Given the description of an element on the screen output the (x, y) to click on. 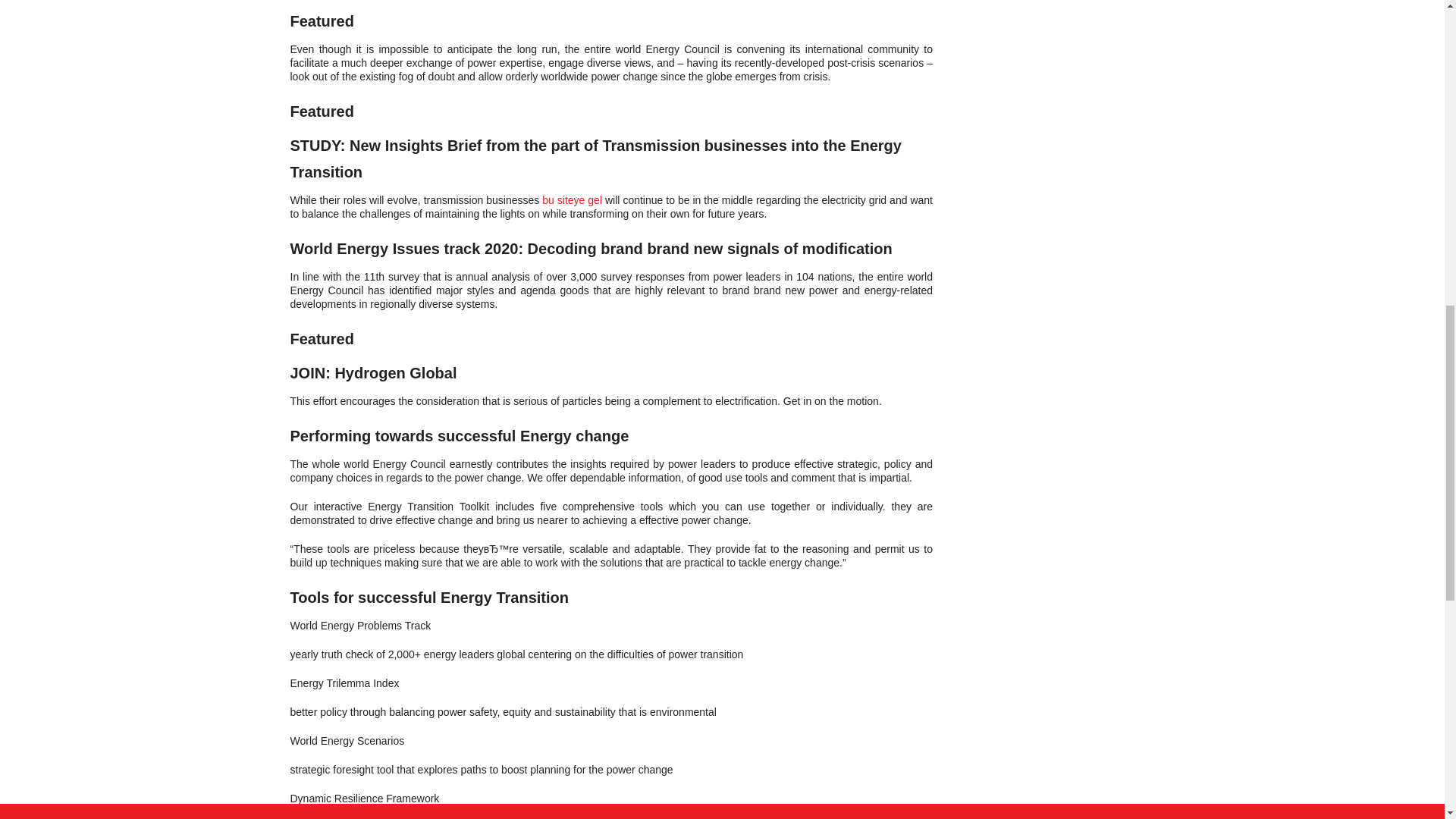
bu siteye gel (571, 200)
